Given the description of an element on the screen output the (x, y) to click on. 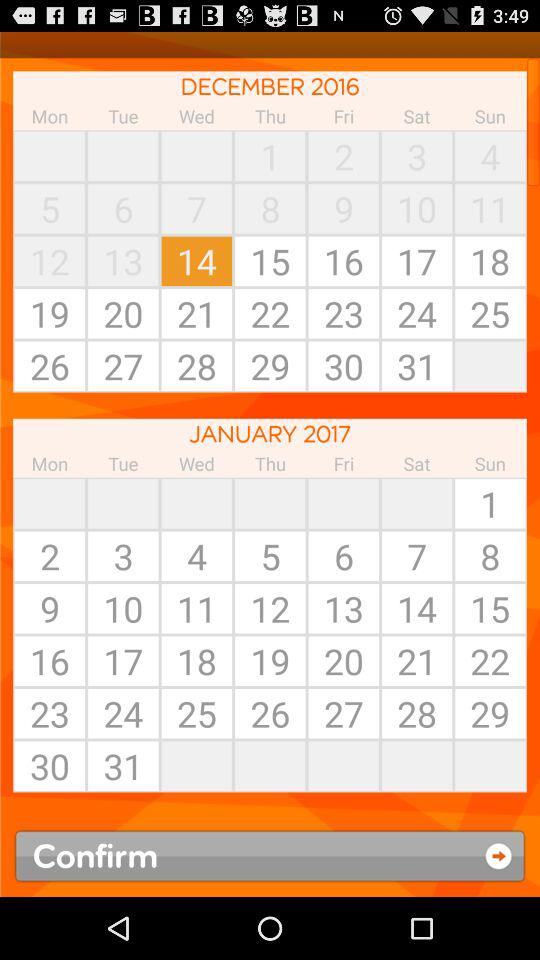
scroll to december 2016 (269, 86)
